Given the description of an element on the screen output the (x, y) to click on. 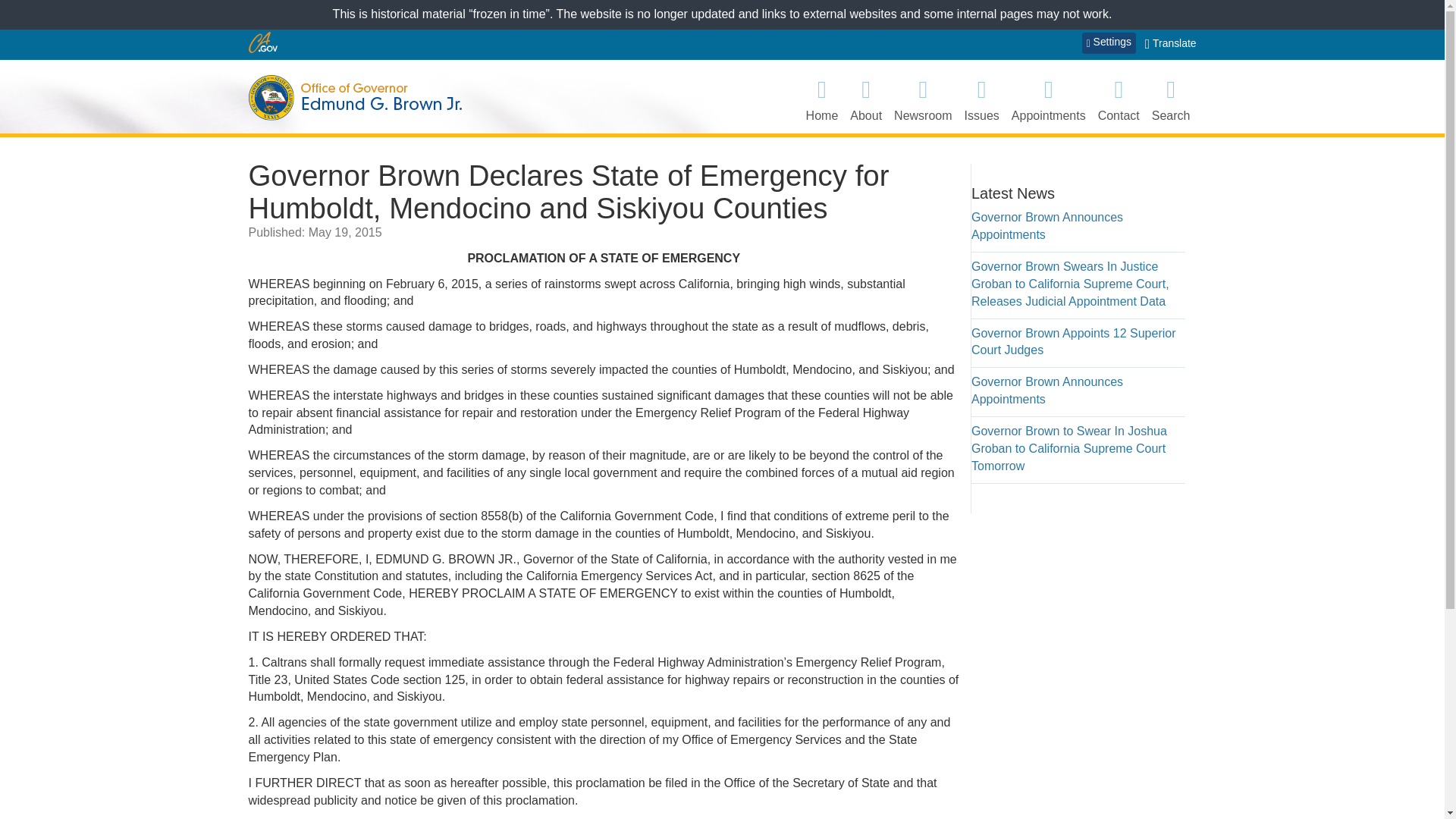
Governor Brown Appoints 12 Superior Court Judges (1072, 341)
Governor Brown Announces Appointments (1046, 390)
Appointments (1048, 98)
CA.gov (263, 43)
Settings (1108, 43)
Translate (1170, 44)
Governor Brown Announces Appointments (1046, 225)
